Given the description of an element on the screen output the (x, y) to click on. 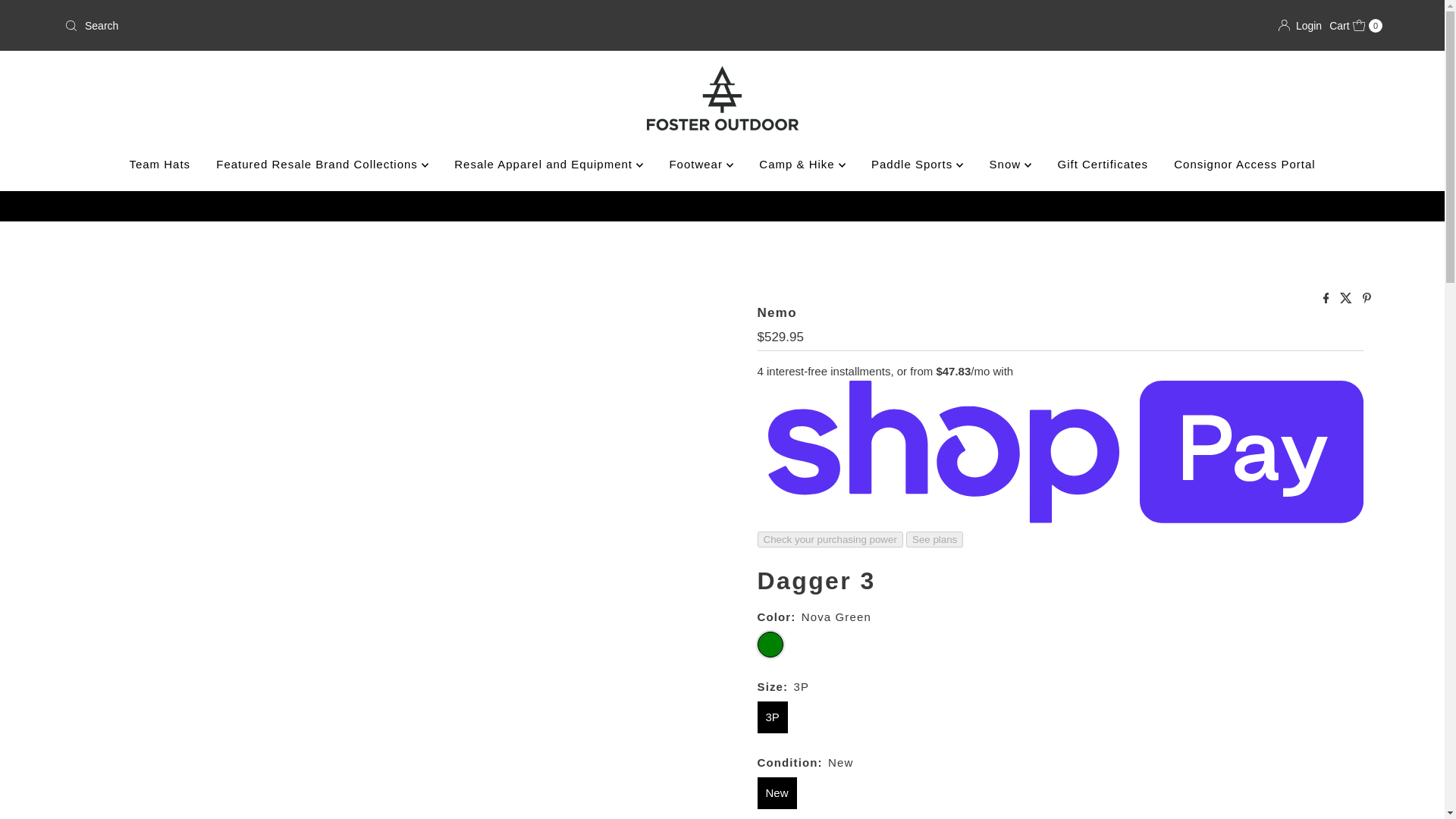
Search our store (275, 25)
Skip to content (53, 18)
Share on Twitter (1347, 298)
